Given the description of an element on the screen output the (x, y) to click on. 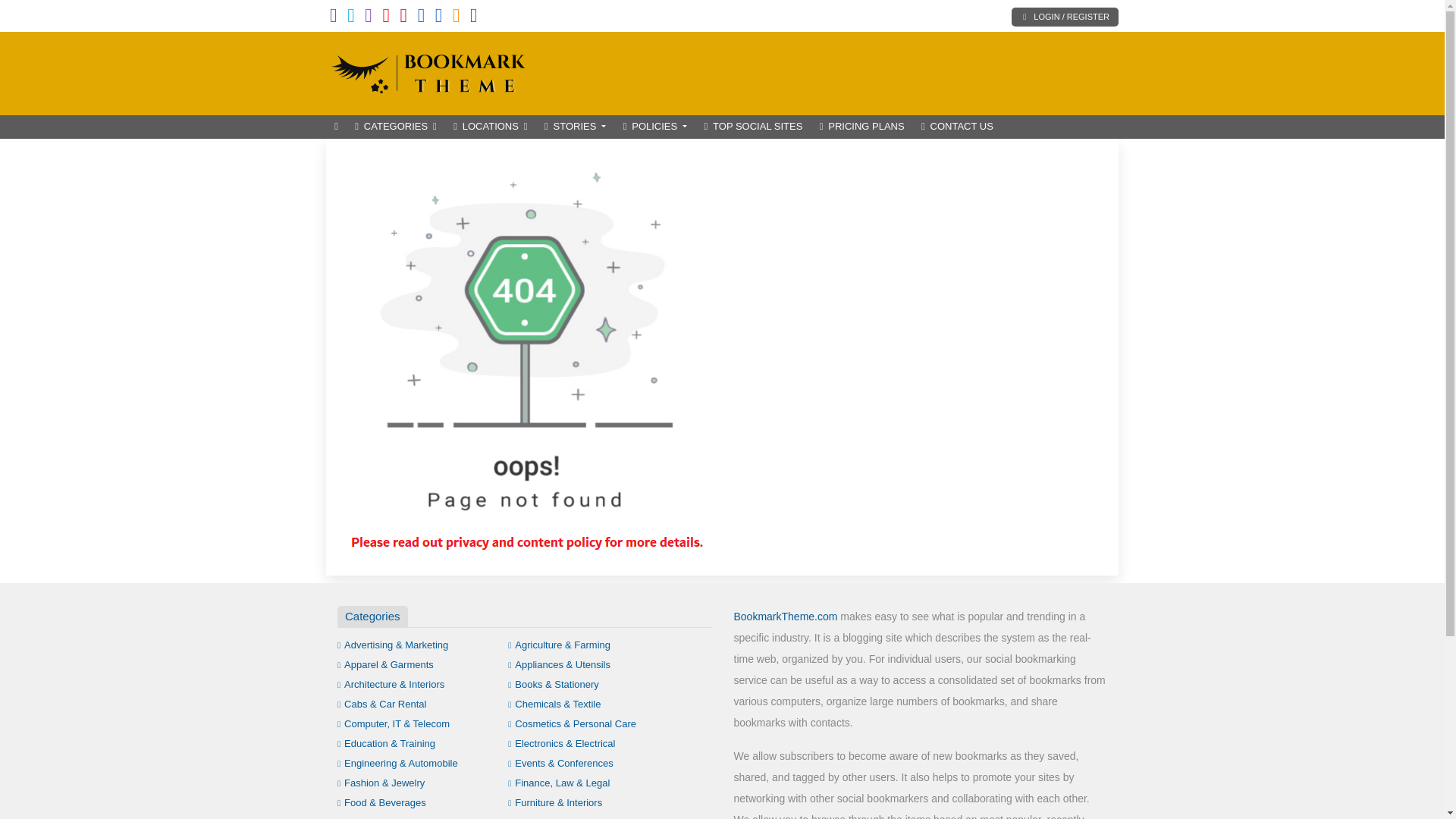
Instagram (368, 18)
Facebook (333, 18)
Tumblr (421, 18)
RSS Feed (456, 18)
Pinterest (403, 18)
Potential Social Bookmarking System for Business Directory (428, 71)
Medium (438, 18)
Twitter (351, 18)
HOME (336, 126)
Linked In (473, 18)
CATEGORIES (395, 126)
YouTube (385, 18)
